Given the description of an element on the screen output the (x, y) to click on. 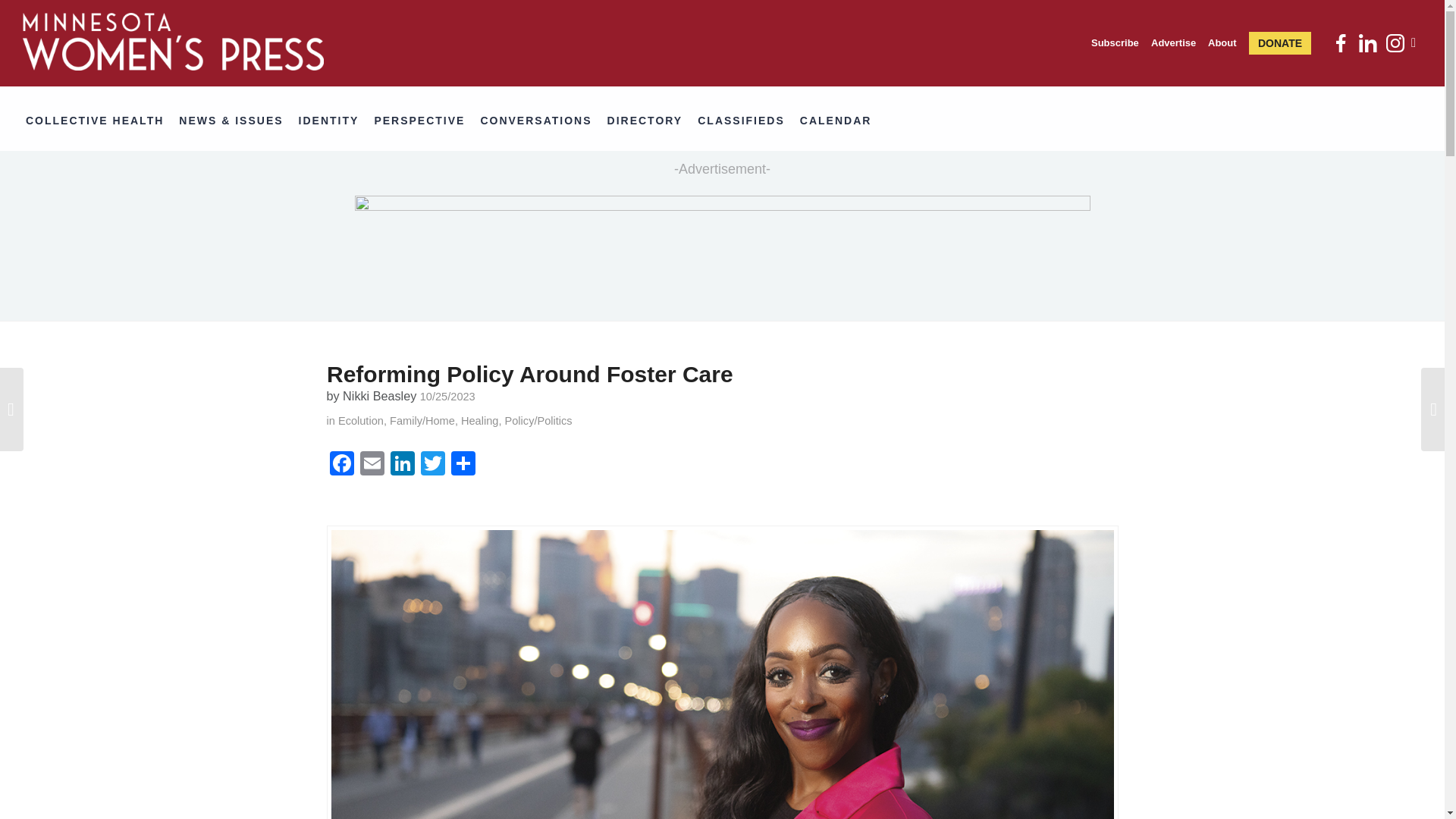
Subscribe (1114, 43)
Twitter (431, 465)
PERSPECTIVE (425, 120)
Advertise (1173, 43)
Ecolution (360, 420)
COLLECTIVE HEALTH (100, 120)
DONATE (1283, 43)
CALENDAR (841, 120)
About (1222, 43)
IDENTITY (334, 120)
DIRECTORY (650, 120)
CONVERSATIONS (541, 120)
LinkedIn (401, 465)
Facebook (341, 465)
CLASSIFIEDS (746, 120)
